Given the description of an element on the screen output the (x, y) to click on. 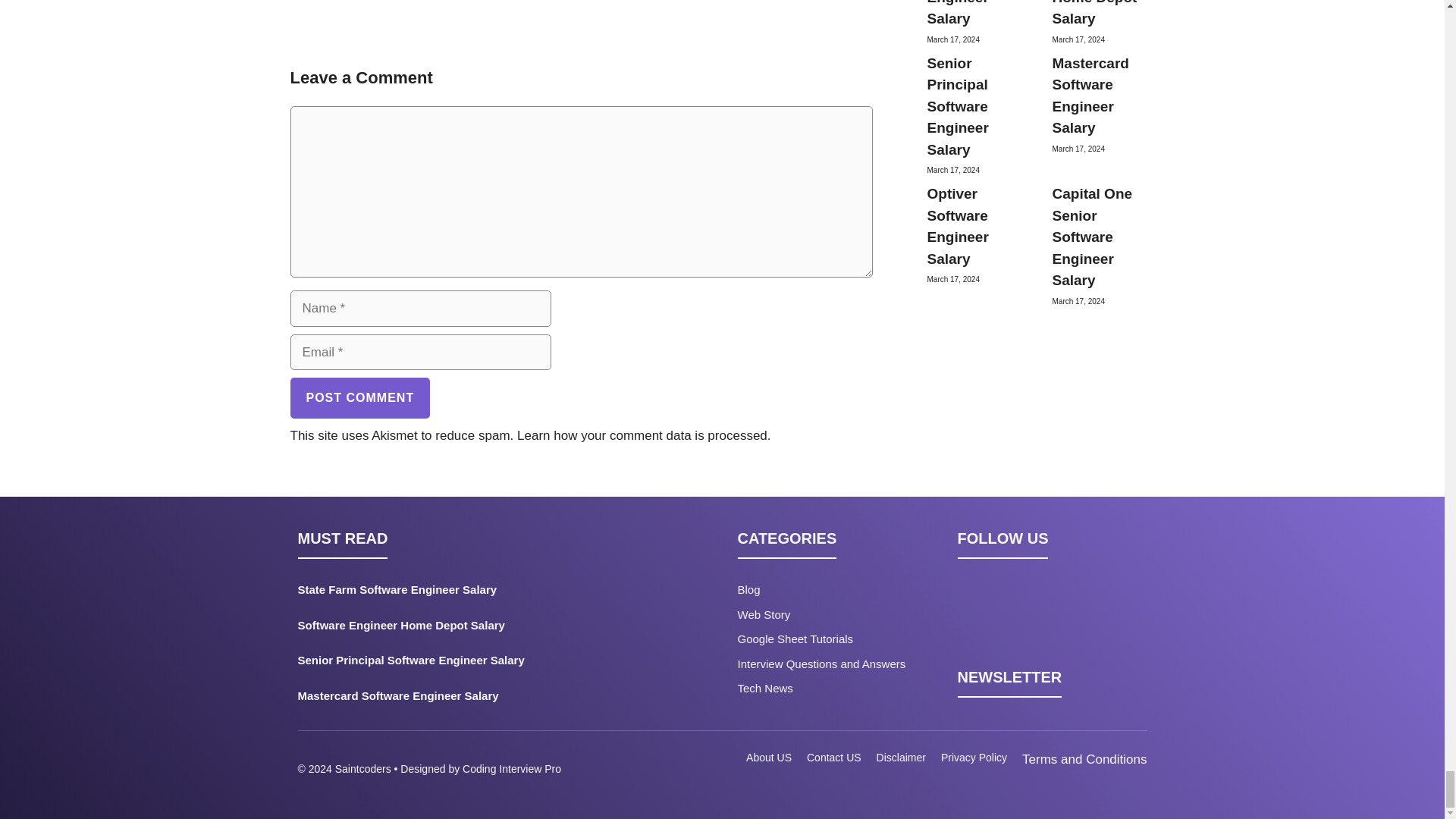
Post Comment (359, 397)
State Farm Software Engineer Salary (450, 593)
Mastercard Software Engineer Salary (450, 699)
Software Engineer Home Depot Salary (450, 629)
Senior Principal Software Engineer Salary (450, 663)
